Given the description of an element on the screen output the (x, y) to click on. 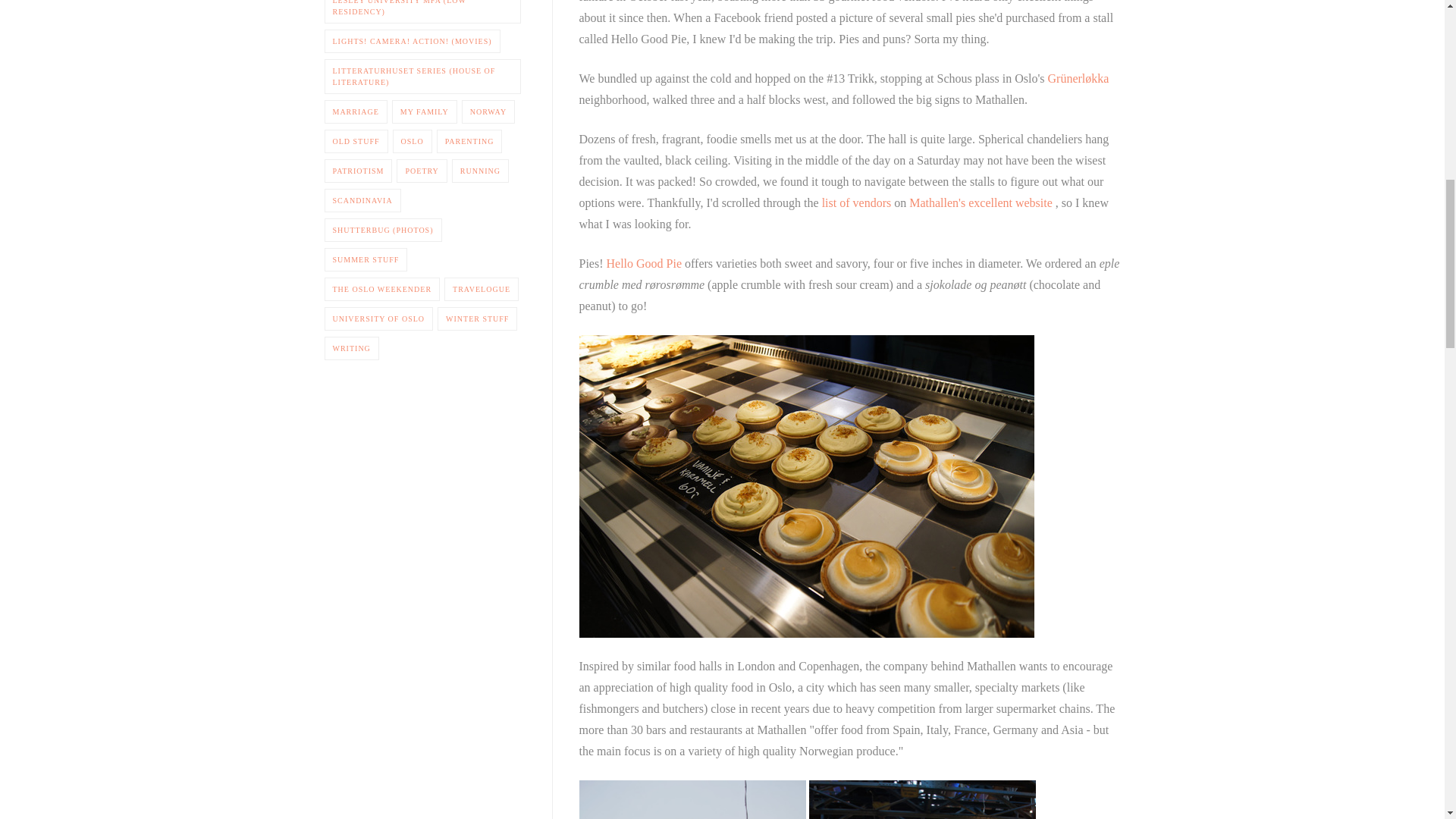
Hello Good Pie (646, 263)
Mathallen's excellent website (981, 202)
list of vendors (858, 202)
